Given the description of an element on the screen output the (x, y) to click on. 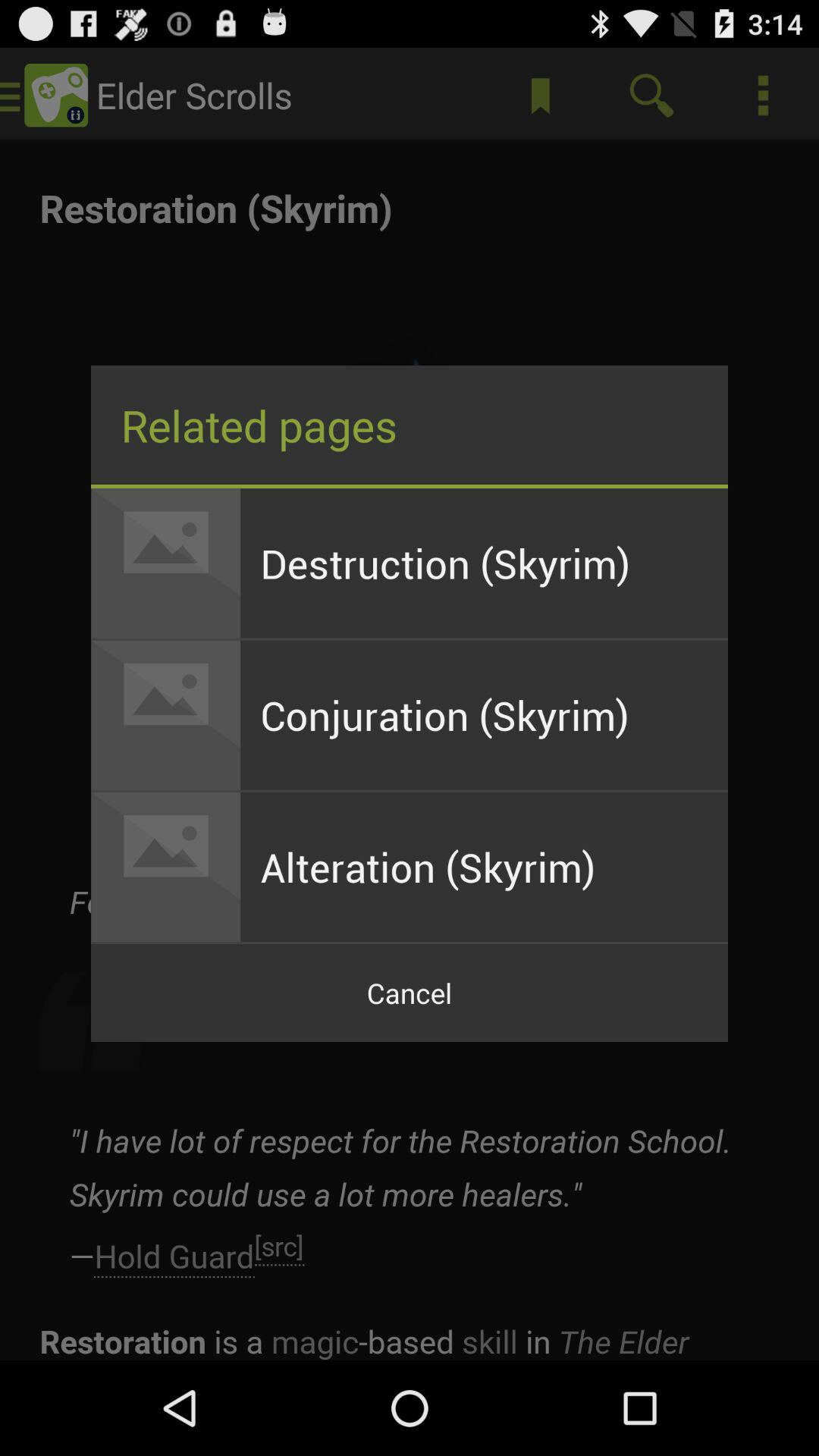
choose app below the conjuration (skyrim) app (484, 866)
